Given the description of an element on the screen output the (x, y) to click on. 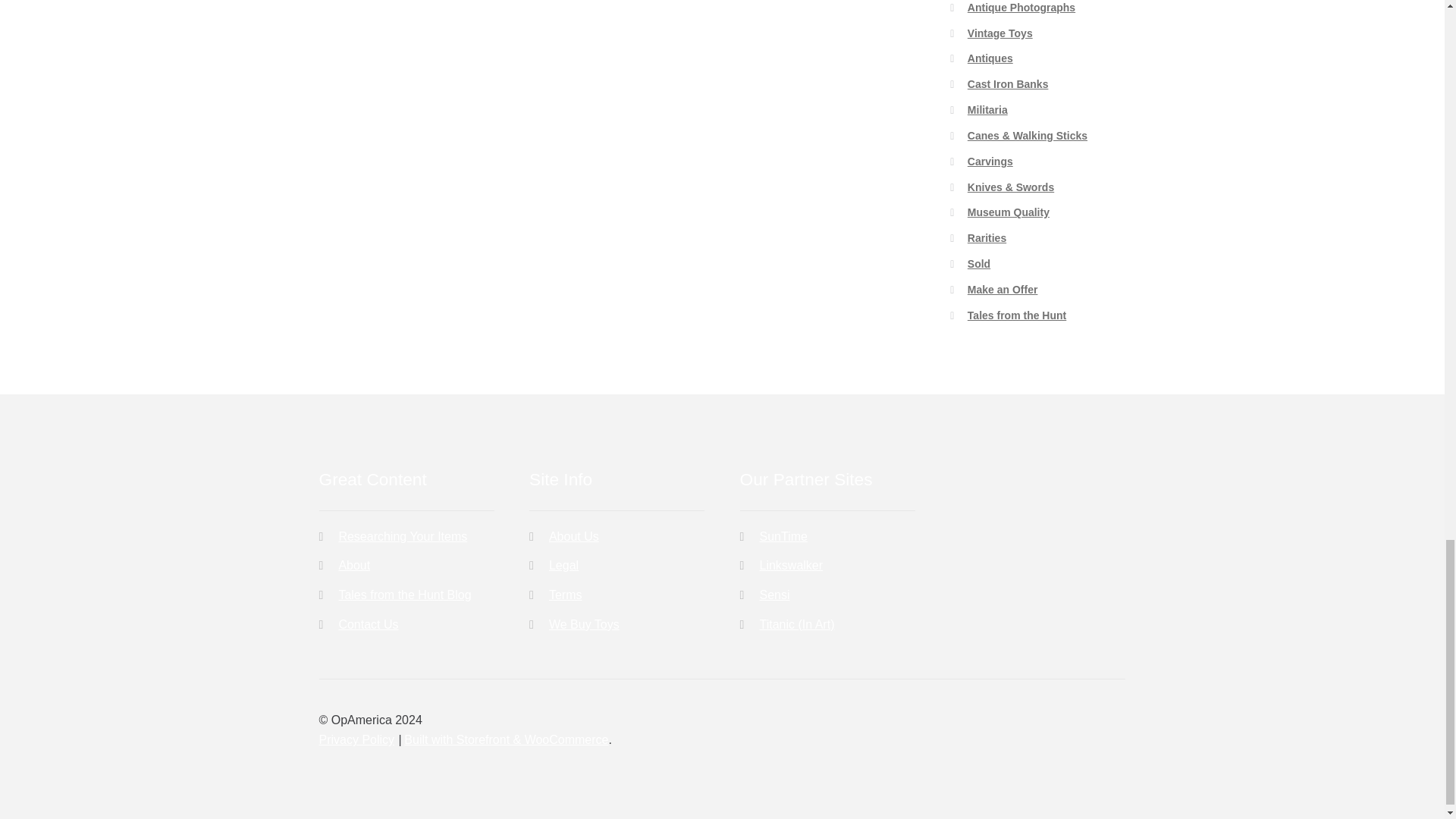
WooCommerce - The Best eCommerce Platform for WordPress (506, 739)
